Given the description of an element on the screen output the (x, y) to click on. 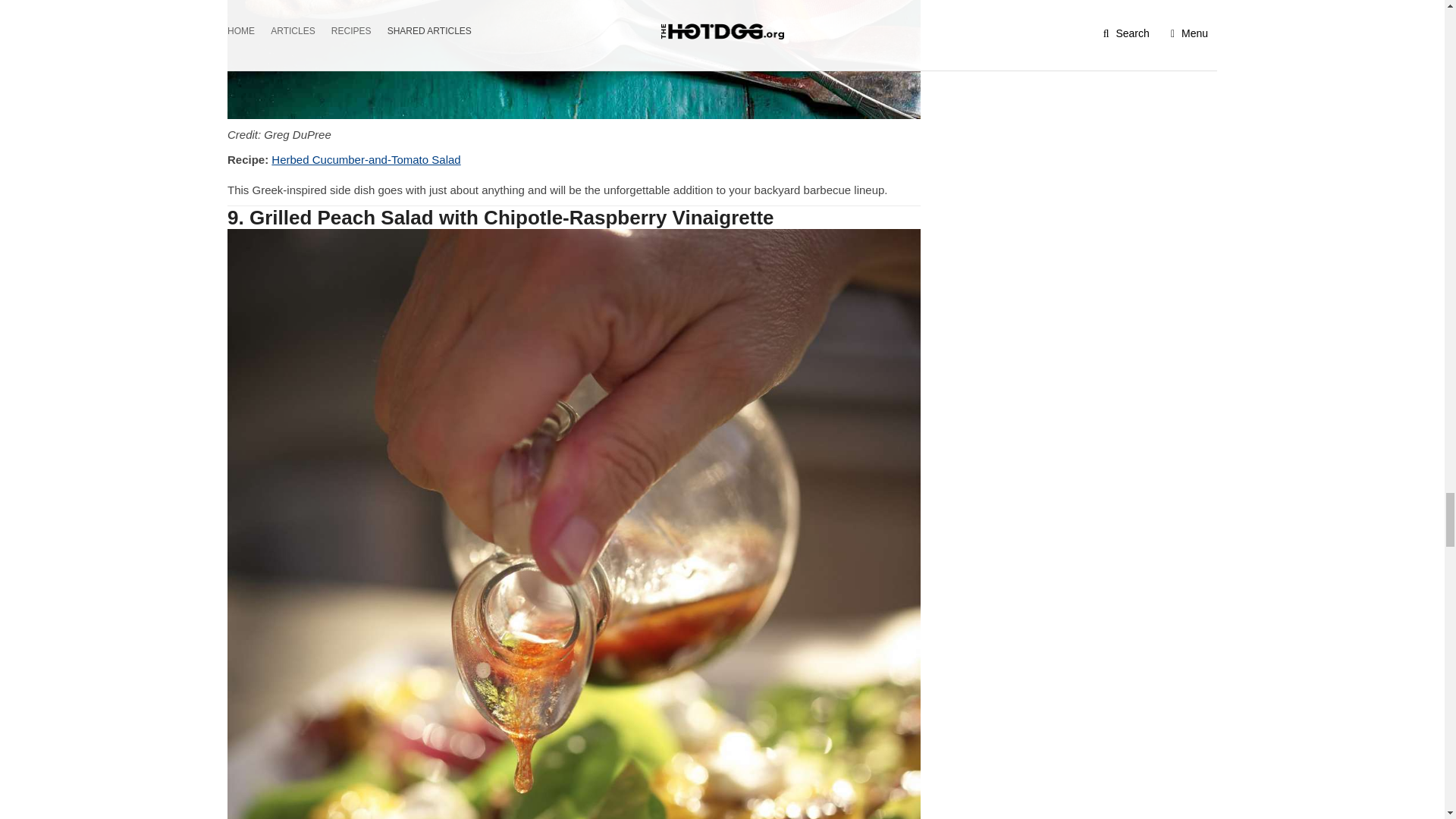
Herbed Cucumber-and-Tomato Salad (573, 59)
Herbed Cucumber-and-Tomato Salad (365, 159)
